Given the description of an element on the screen output the (x, y) to click on. 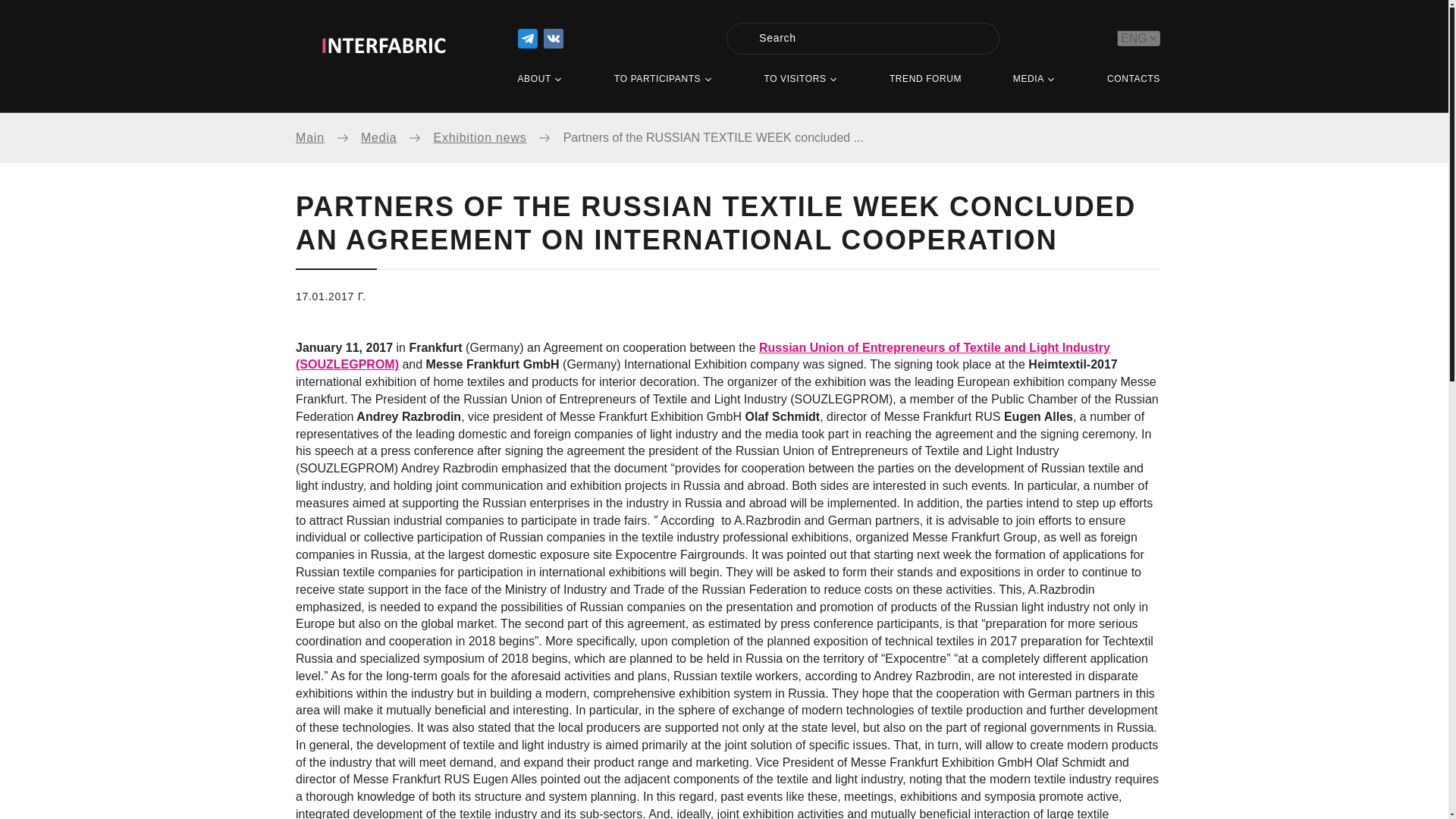
CONTACTS (1133, 79)
Vk (552, 38)
Main (328, 137)
Exhibition news (497, 137)
Media (397, 137)
Media (397, 137)
Main (328, 137)
TREND FORUM (924, 79)
Exhibition news (497, 137)
MEDIA (1035, 79)
Telegram (526, 38)
TO VISITORS (800, 79)
TO PARTICIPANTS (663, 79)
